Given the description of an element on the screen output the (x, y) to click on. 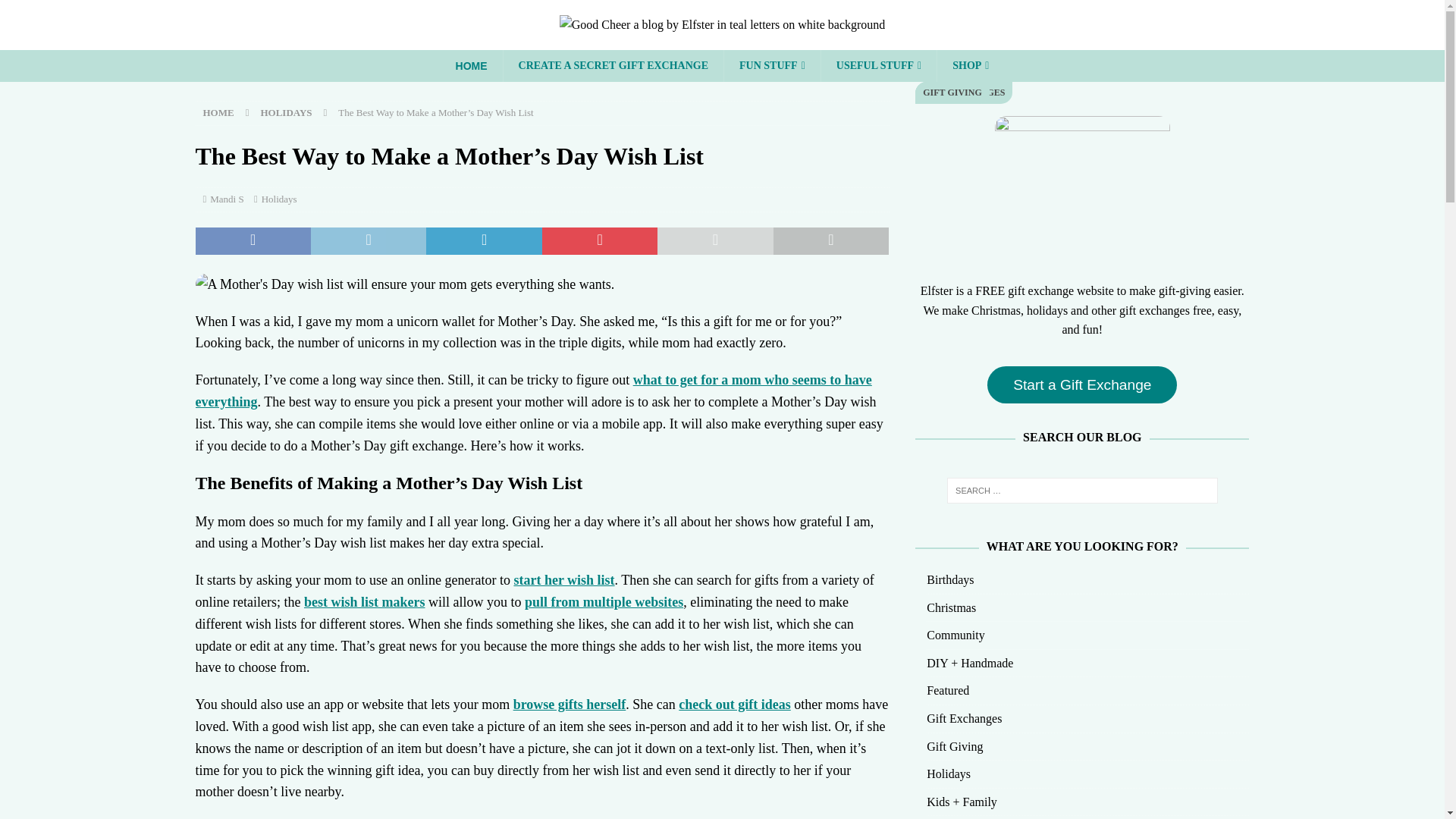
FUN STUFF (772, 65)
USEFUL STUFF (878, 65)
SHOP (970, 65)
secret santa generator (612, 65)
CREATE A SECRET GIFT EXCHANGE (612, 65)
HOME (471, 65)
